Given the description of an element on the screen output the (x, y) to click on. 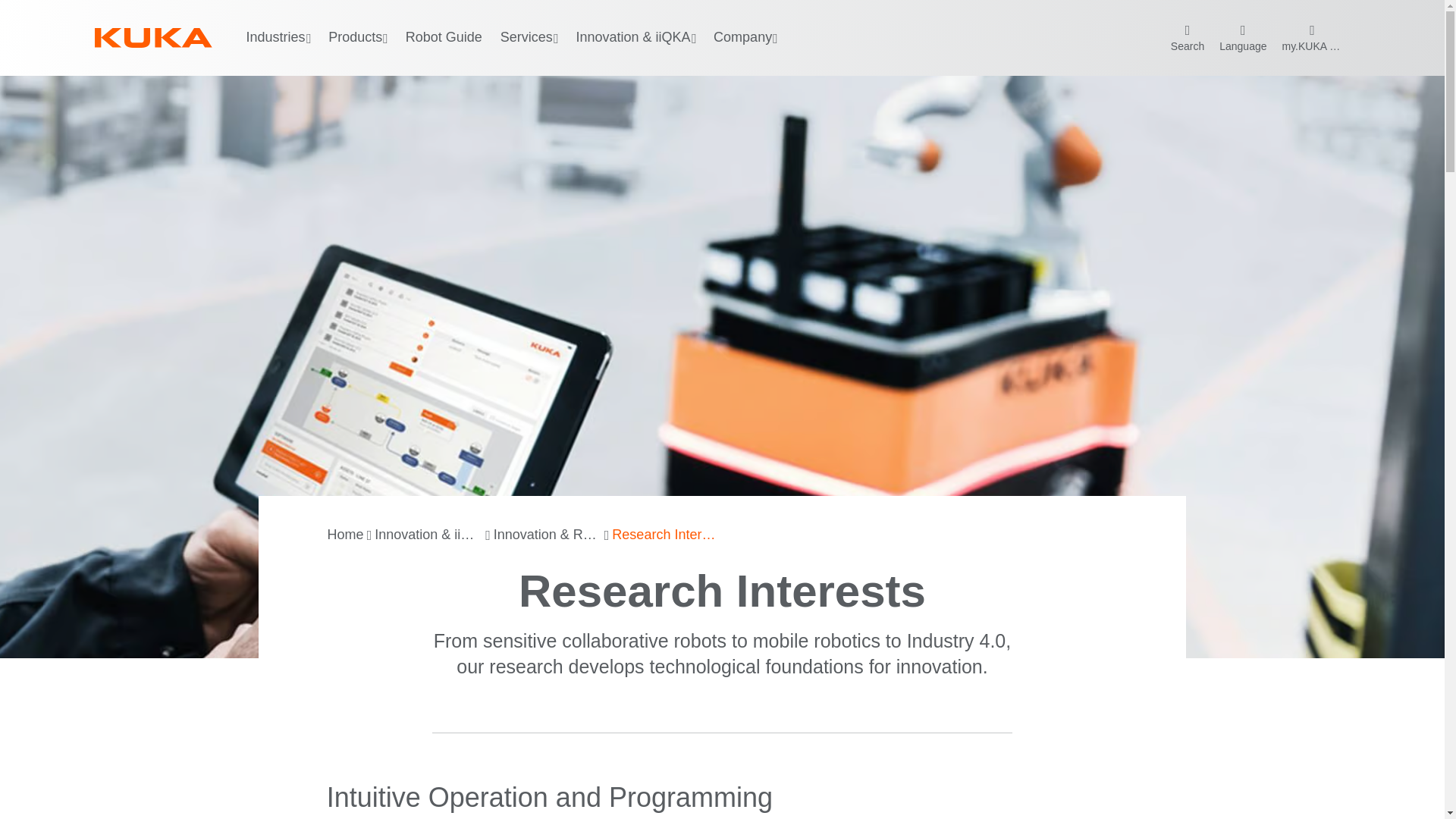
Research Interests (665, 535)
Home (345, 535)
